Given the description of an element on the screen output the (x, y) to click on. 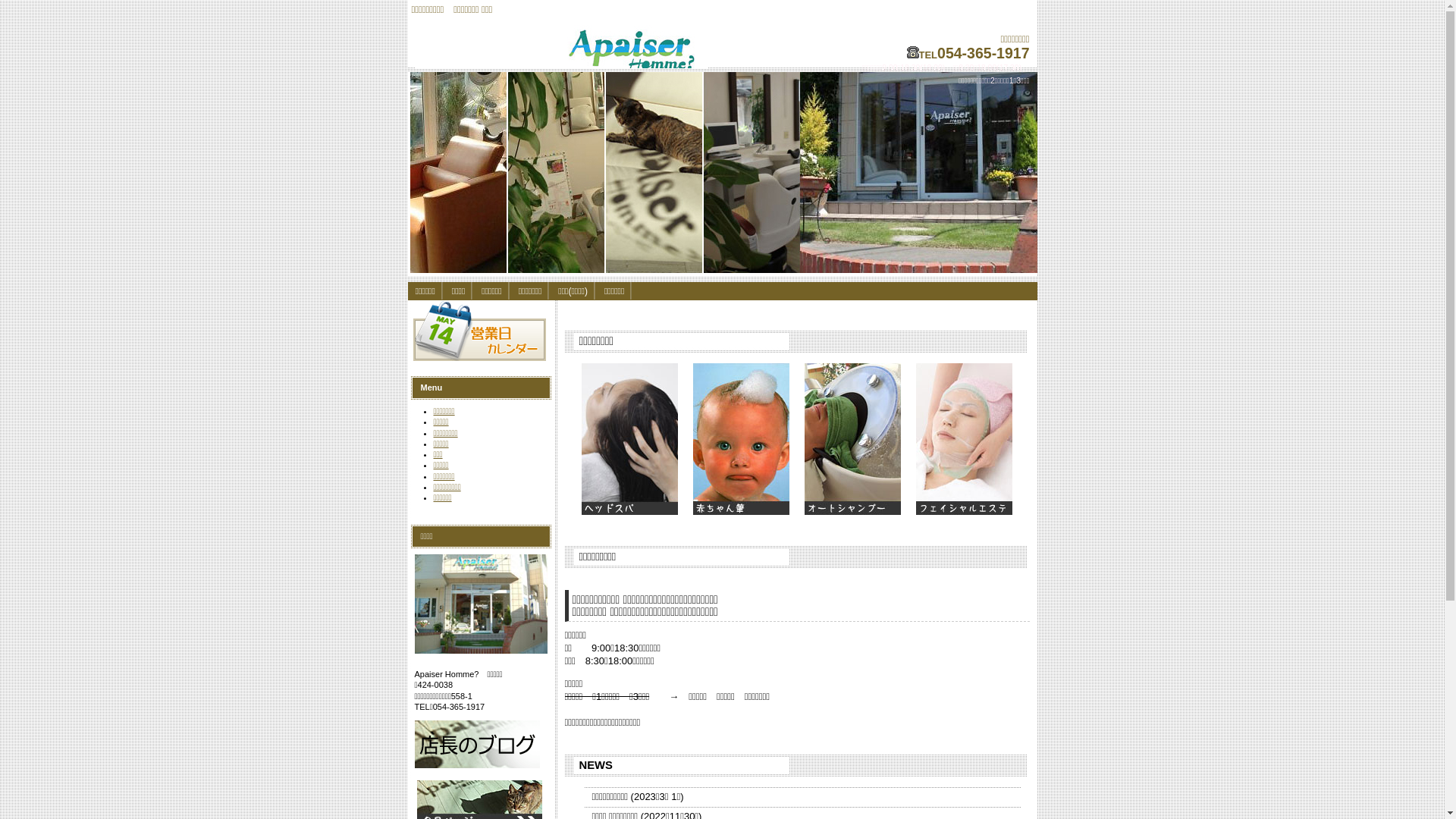
telephone Element type: hover (912, 52)
